Given the description of an element on the screen output the (x, y) to click on. 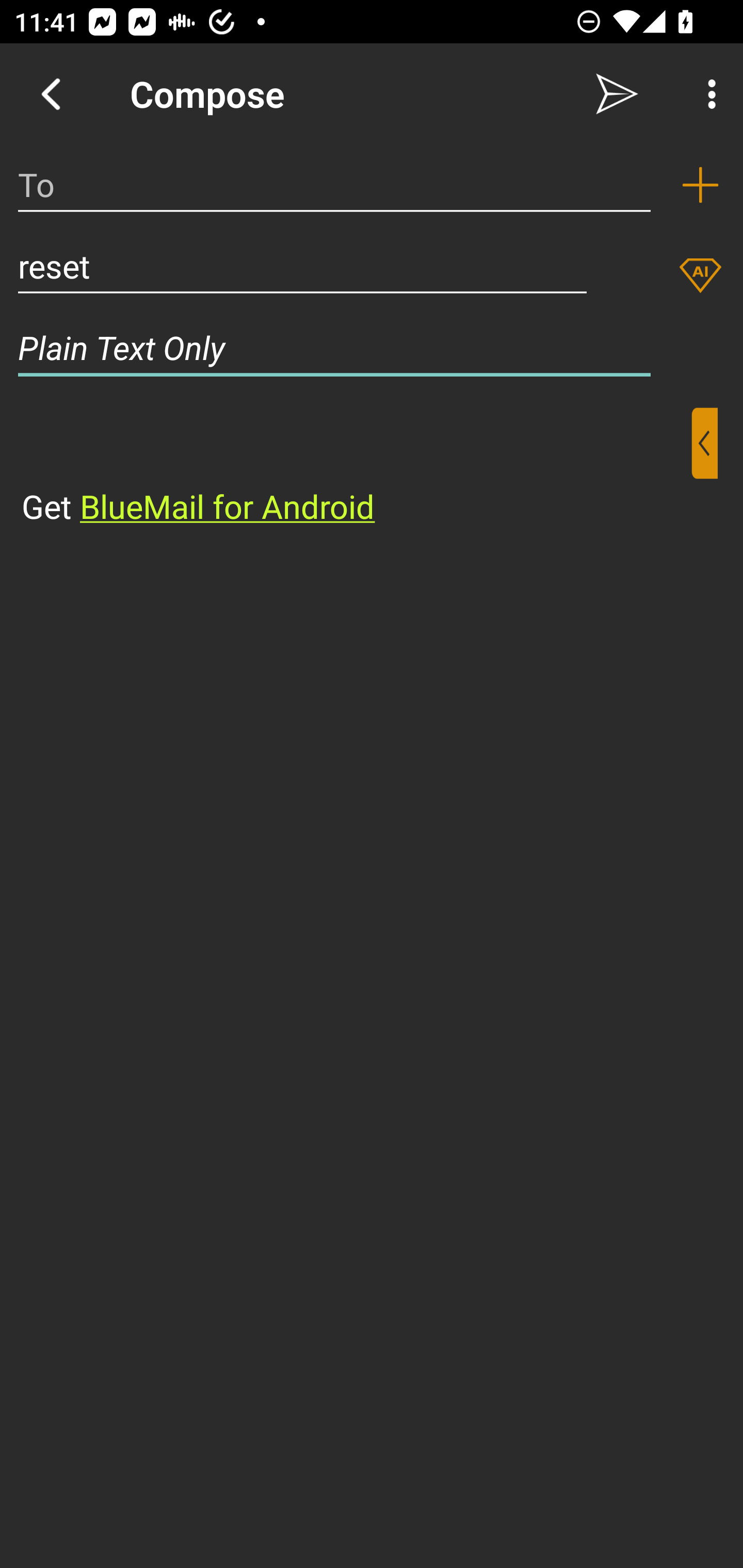
Navigate up (50, 93)
Send (616, 93)
More Options (706, 93)
To (334, 184)
Add recipient (To) (699, 184)
reset (302, 266)
Plain Text Only (371, 347)


⁣Get BlueMail for Android ​ (355, 468)
